Given the description of an element on the screen output the (x, y) to click on. 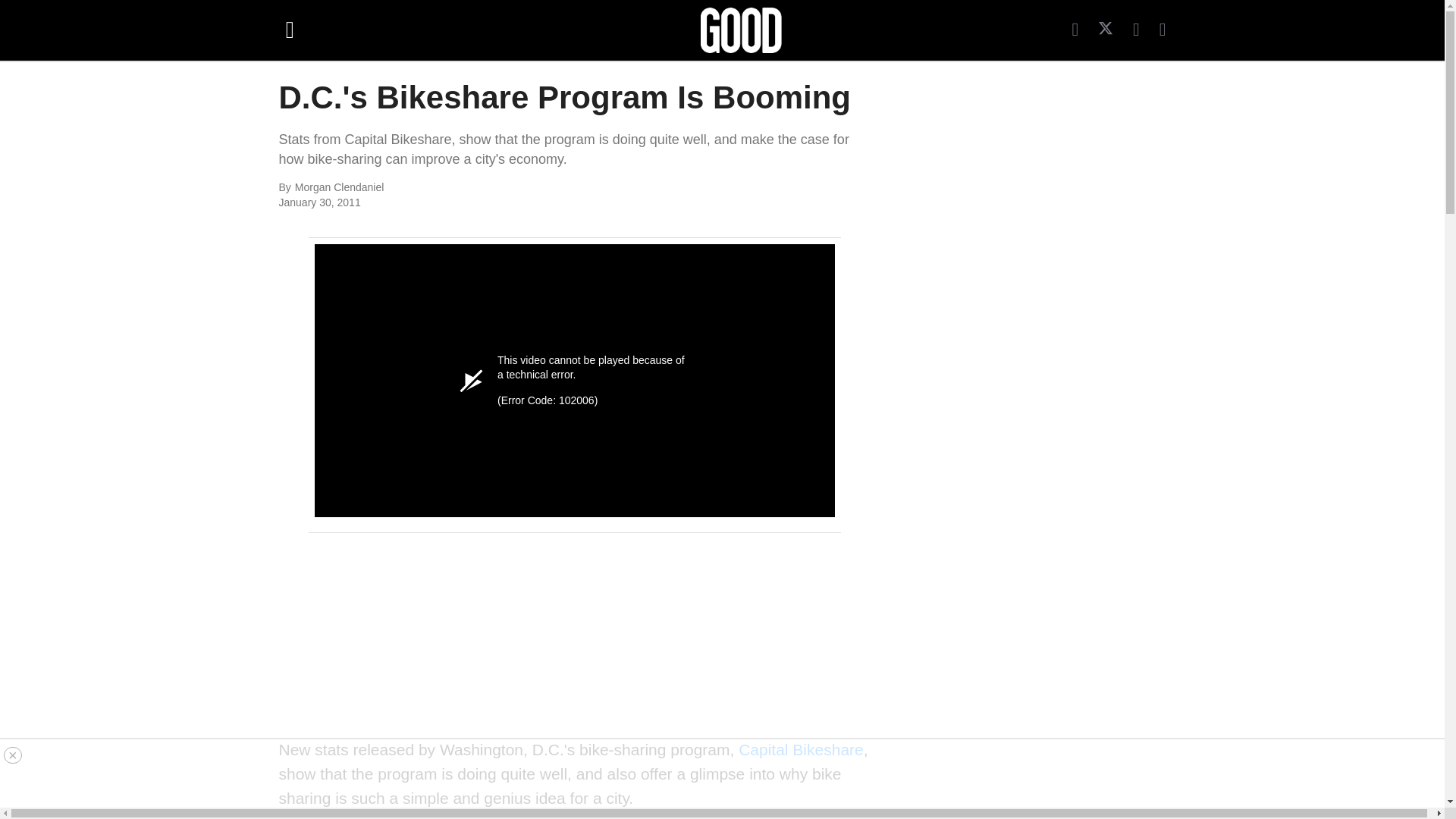
Capital Bikeshare (800, 749)
Morgan Clendaniel (459, 187)
